Given the description of an element on the screen output the (x, y) to click on. 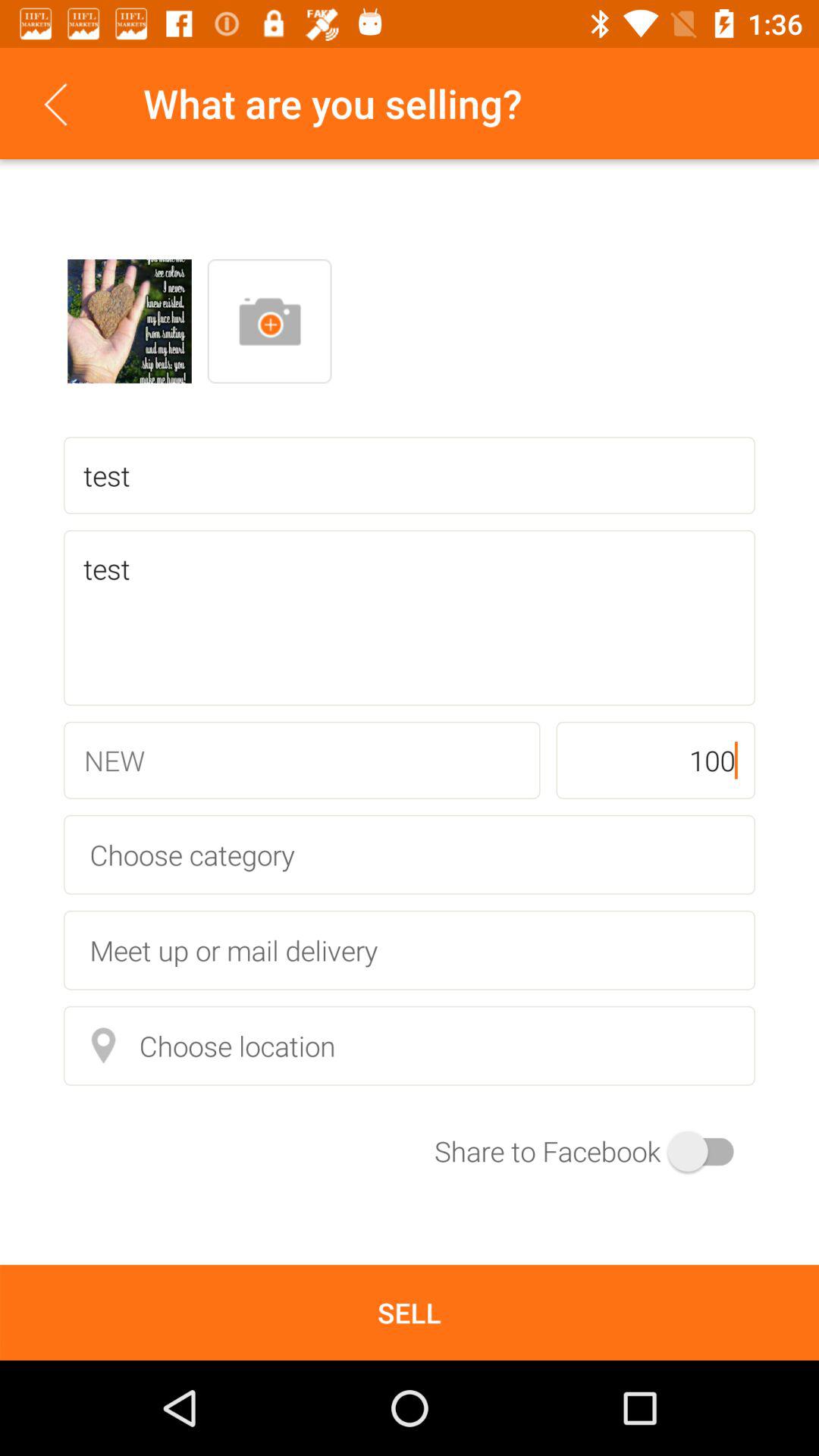
select icon below the test item (655, 760)
